Given the description of an element on the screen output the (x, y) to click on. 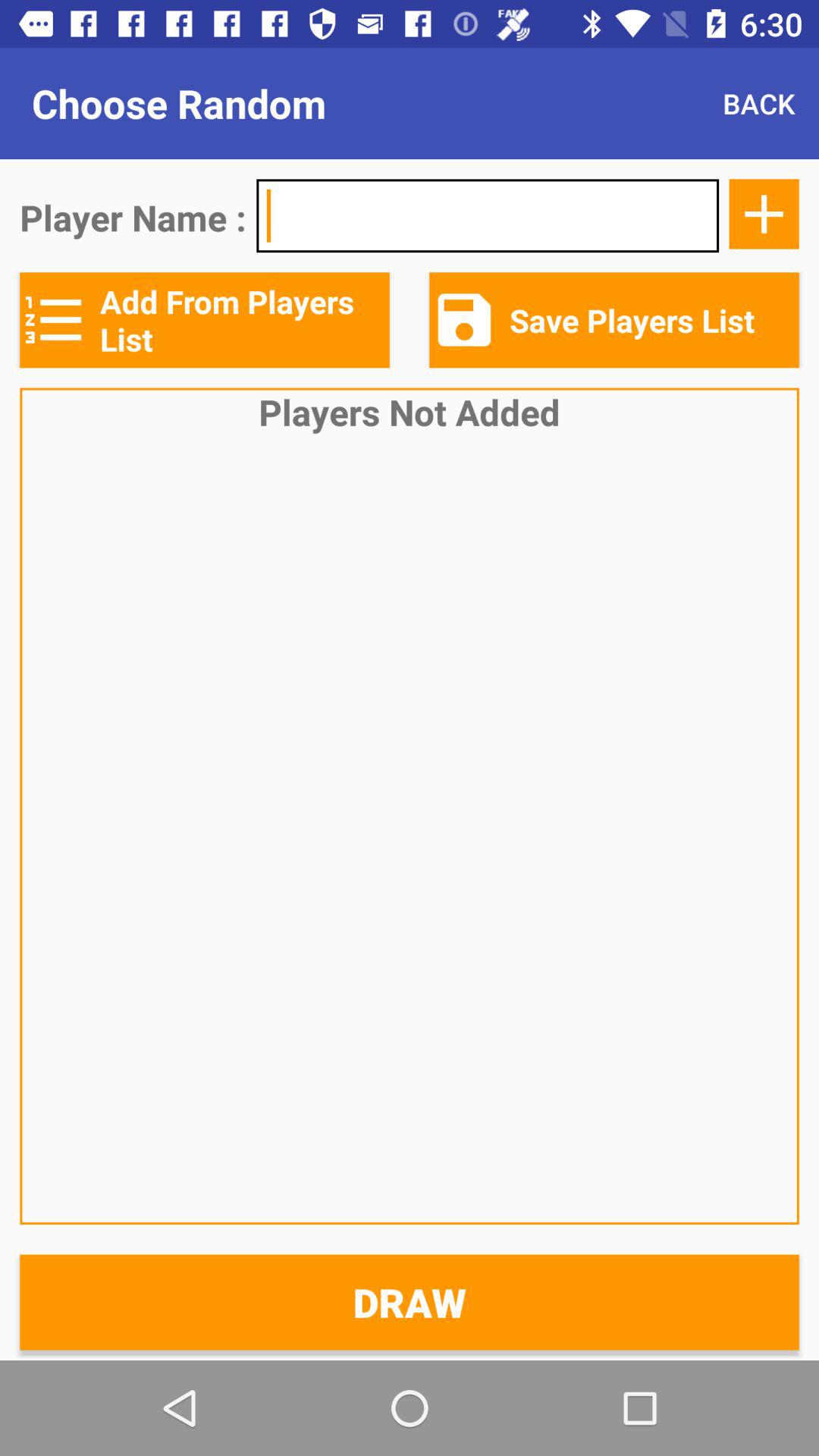
enter player name (487, 215)
